Given the description of an element on the screen output the (x, y) to click on. 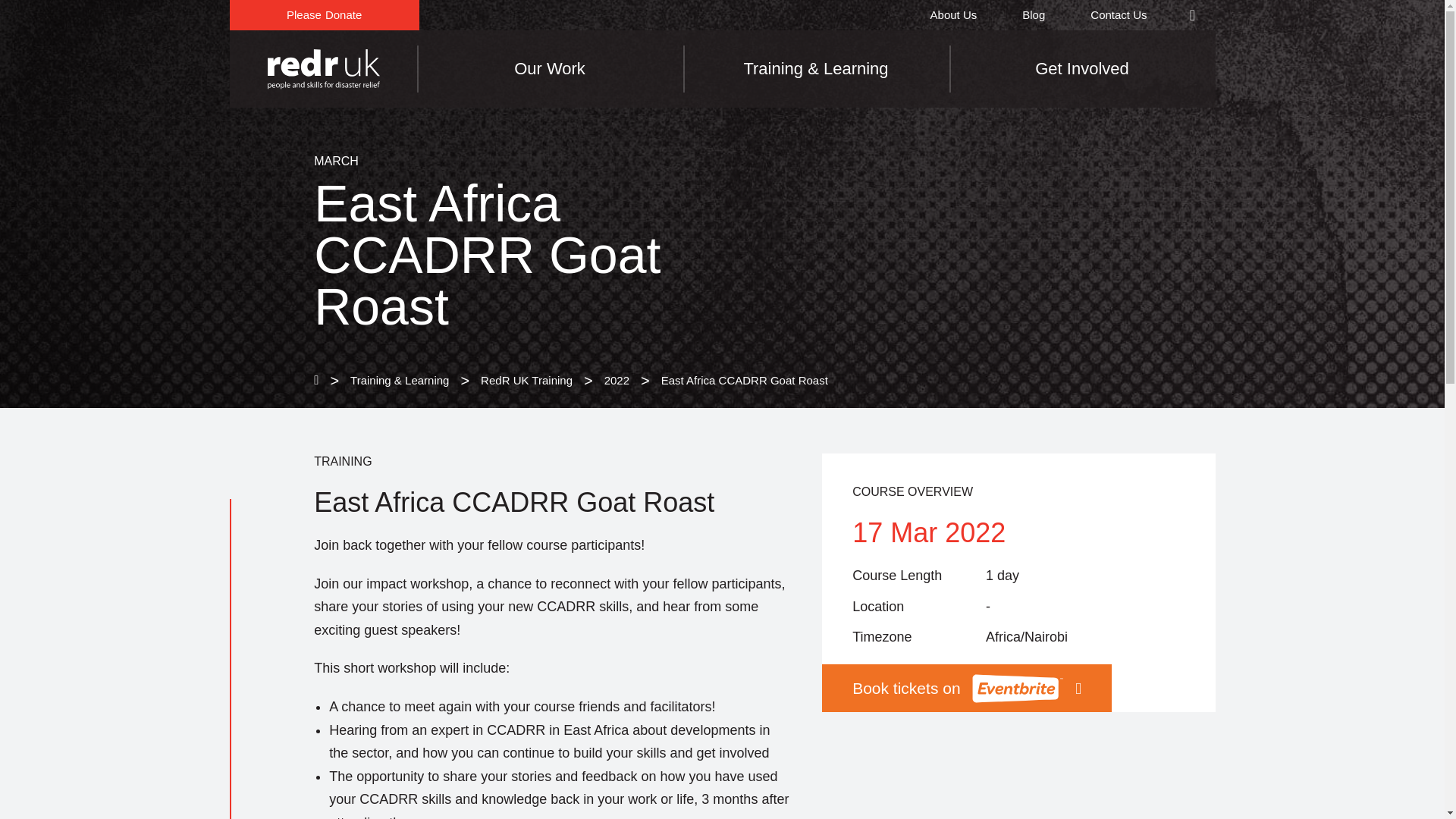
Contact Us (1118, 15)
Search (1191, 15)
Blog (323, 15)
About Us (1032, 15)
Our Work (953, 15)
